Given the description of an element on the screen output the (x, y) to click on. 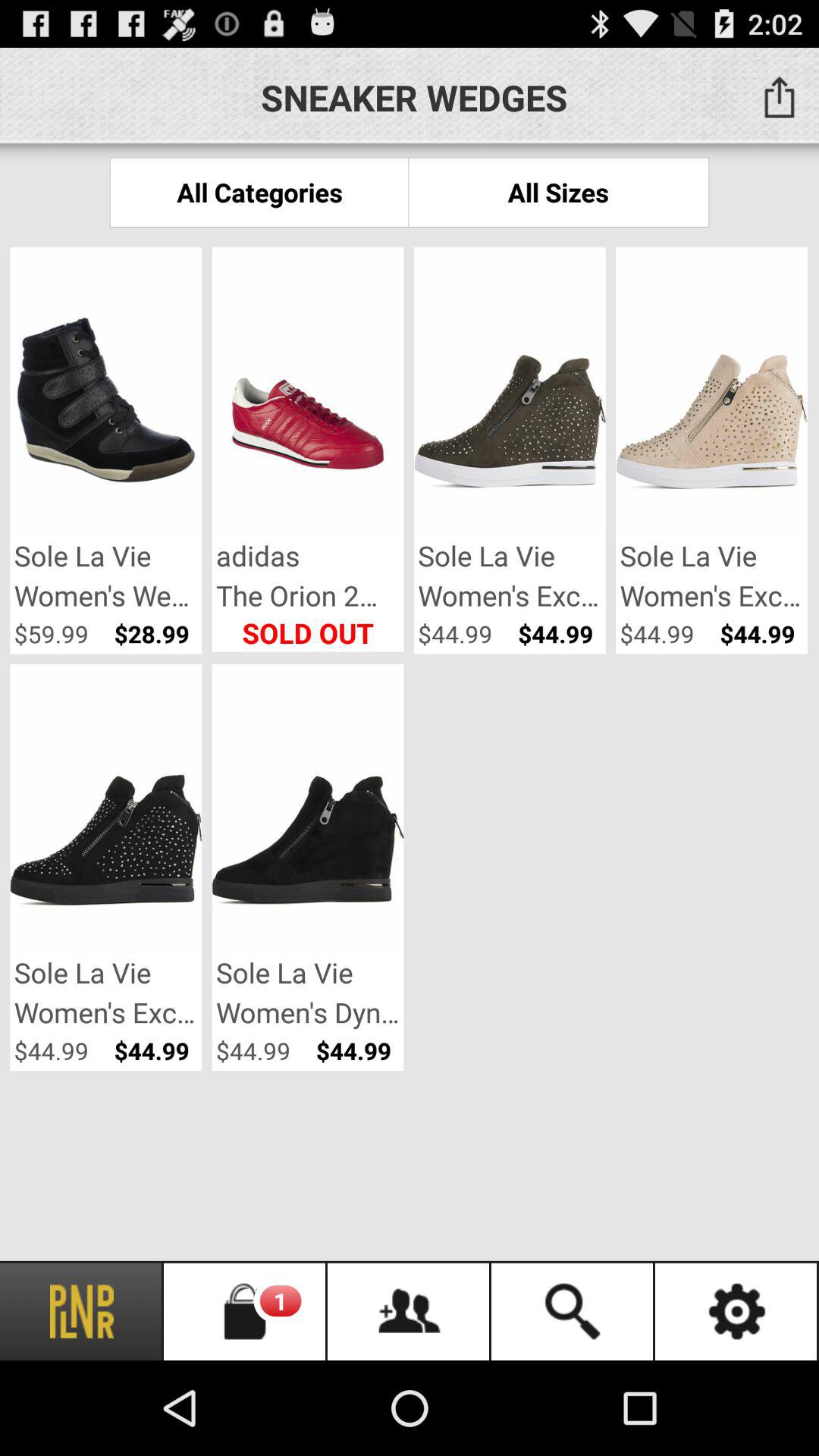
click the app next to the all sizes item (259, 192)
